Given the description of an element on the screen output the (x, y) to click on. 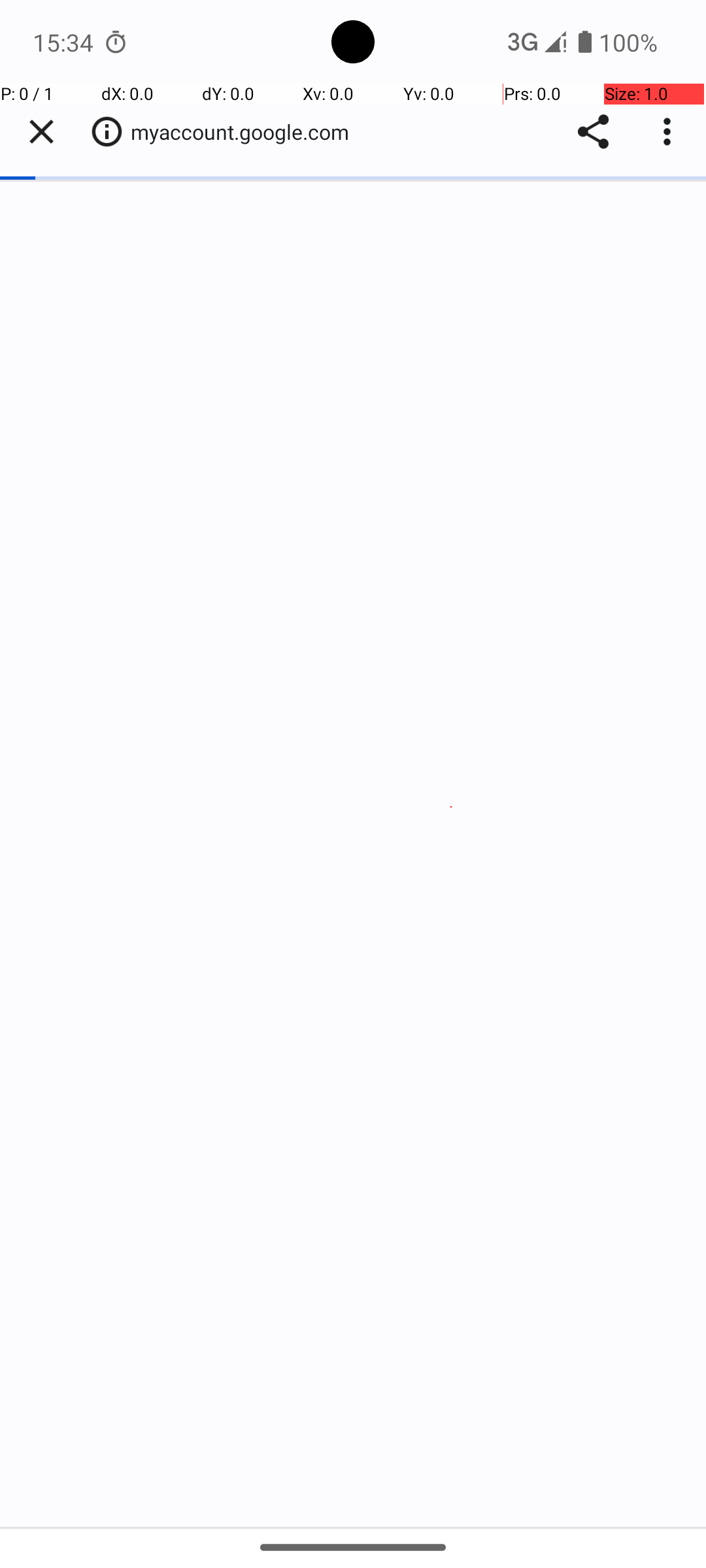
Web View Element type: android.widget.FrameLayout (353, 804)
Close tab Element type: android.widget.ImageButton (41, 131)
myaccount.google.com Element type: android.widget.TextView (246, 131)
